Given the description of an element on the screen output the (x, y) to click on. 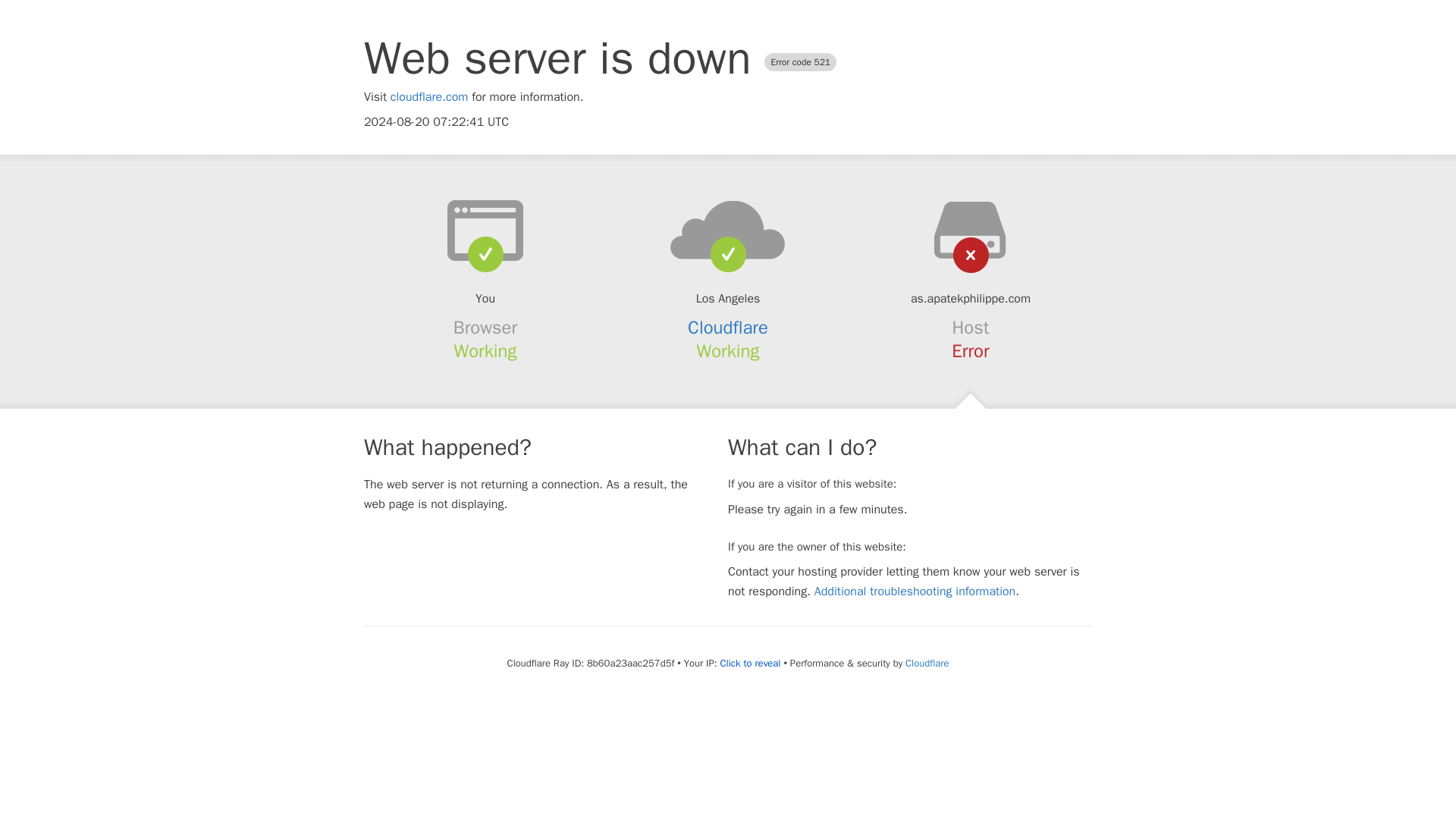
cloudflare.com (429, 96)
Click to reveal (750, 663)
Cloudflare (727, 327)
Additional troubleshooting information (913, 590)
Cloudflare (927, 662)
